Given the description of an element on the screen output the (x, y) to click on. 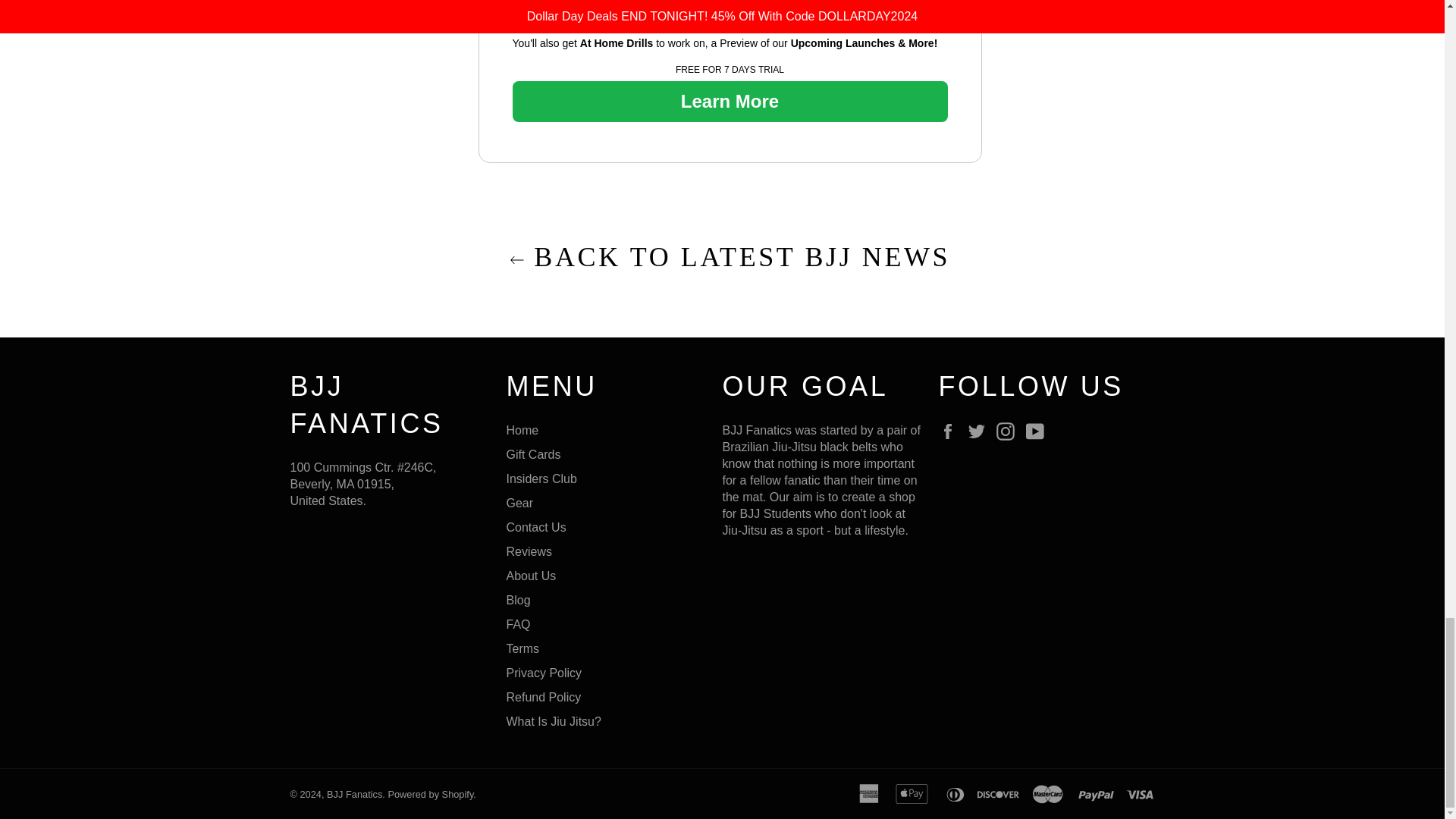
BJJ Fanatics on Instagram (1008, 431)
BJJ Fanatics on Twitter (980, 431)
BJJ Fanatics on YouTube (1038, 431)
BJJ Fanatics on Facebook (951, 431)
